Given the description of an element on the screen output the (x, y) to click on. 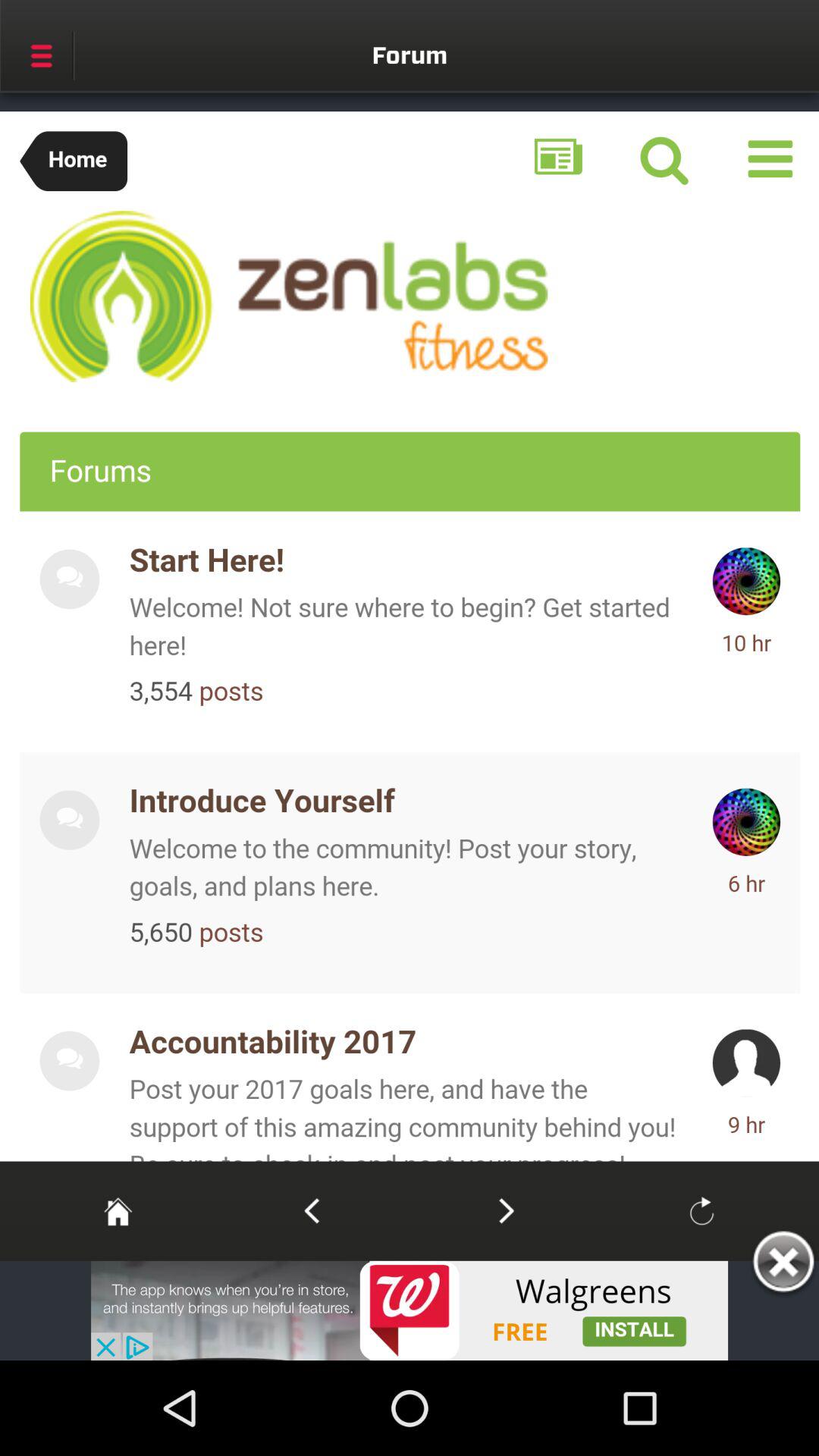
advertisements image (409, 1310)
